Given the description of an element on the screen output the (x, y) to click on. 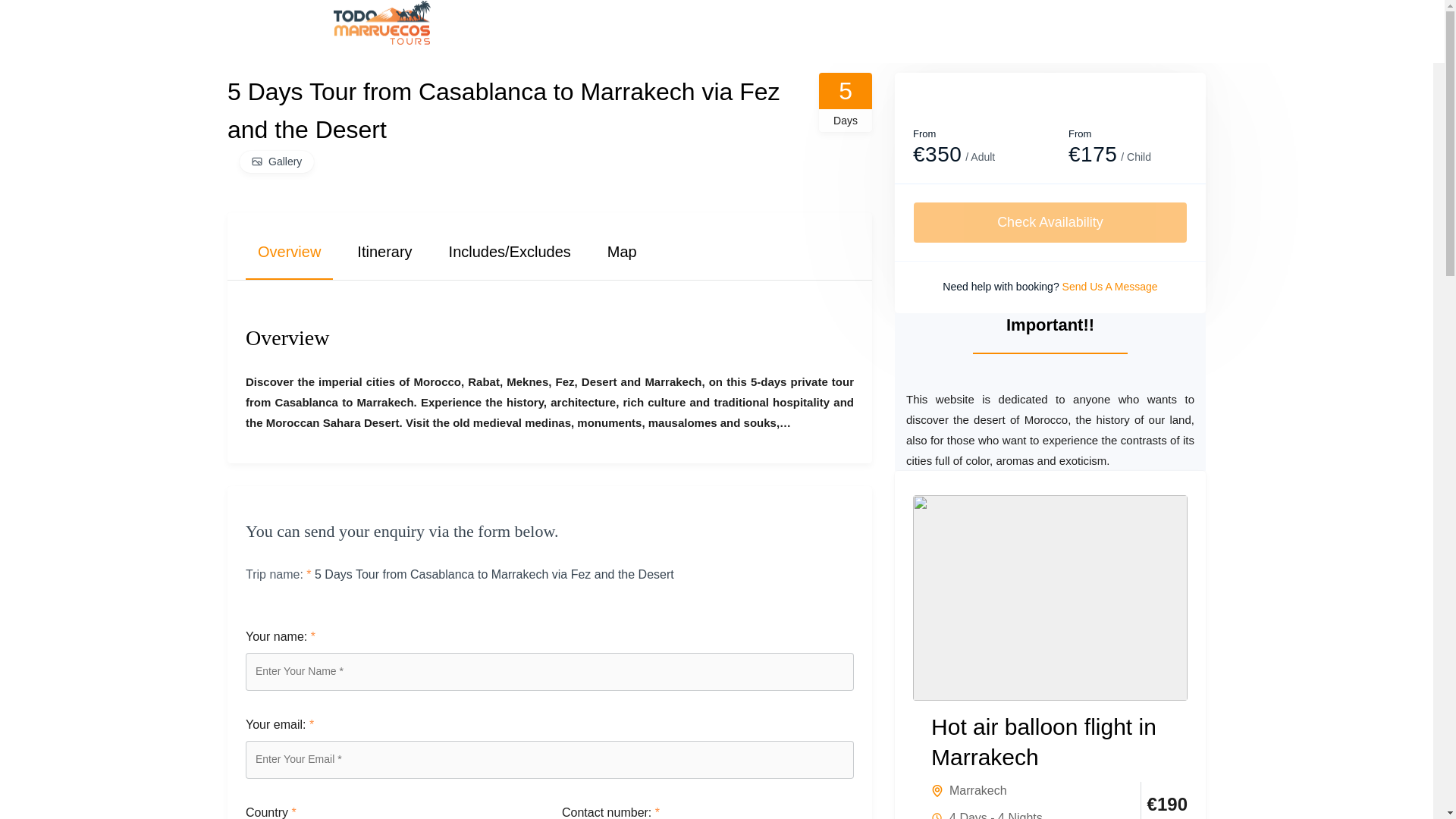
Overview (289, 246)
Itinerary (384, 246)
Gallery (277, 160)
